Given the description of an element on the screen output the (x, y) to click on. 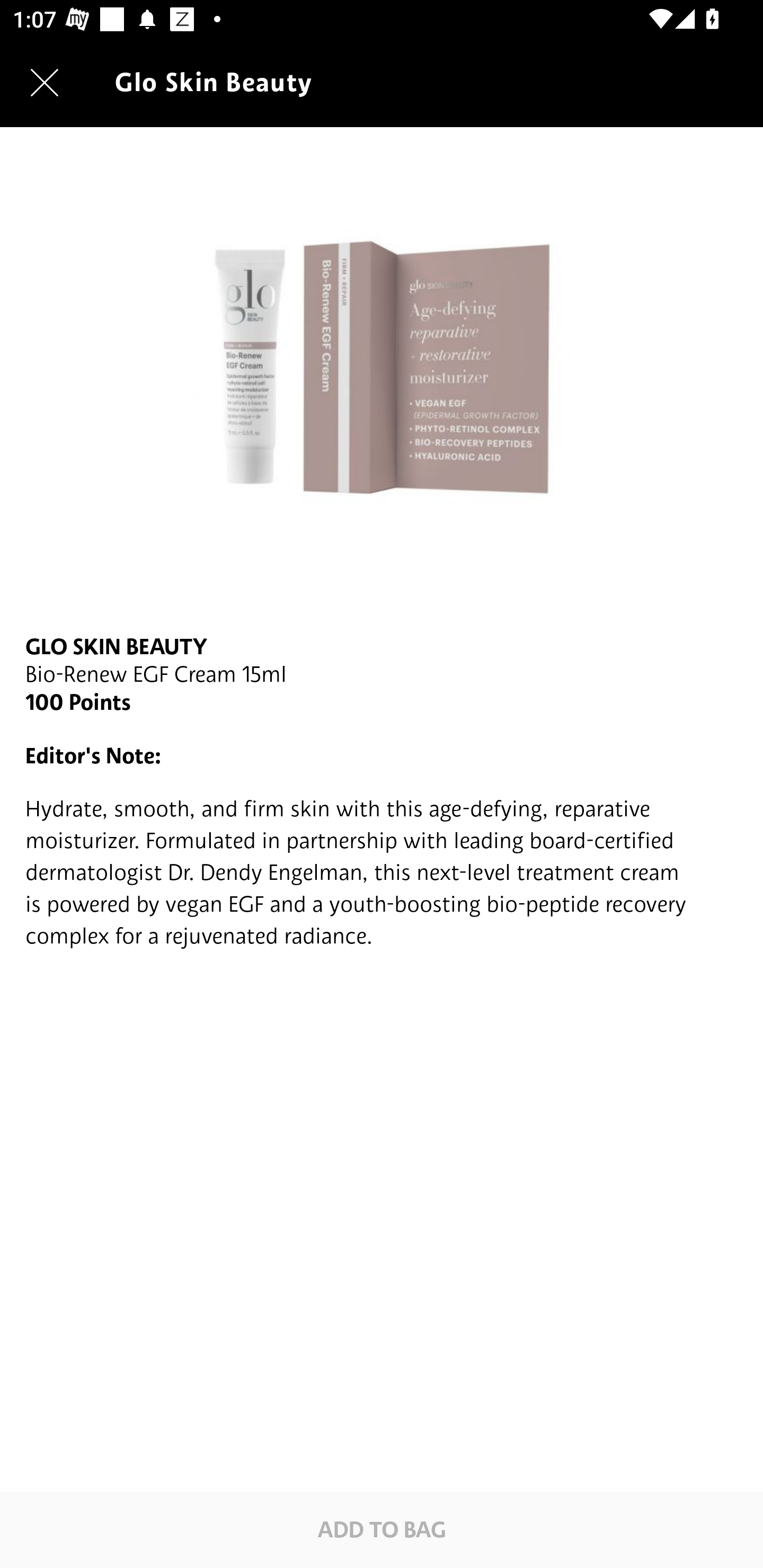
ADD TO BAG (381, 1529)
